Given the description of an element on the screen output the (x, y) to click on. 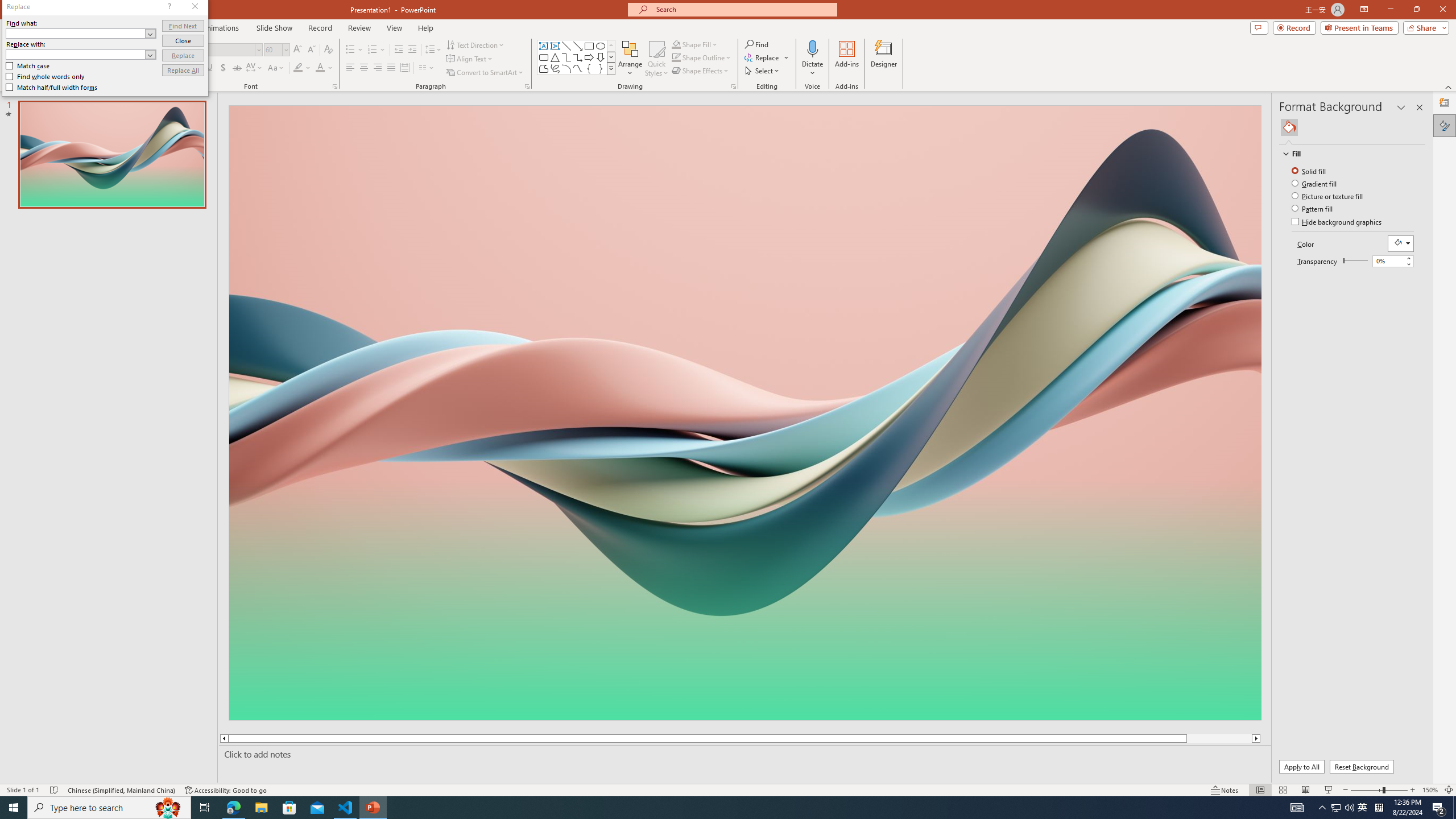
Transparency (1388, 260)
Match half/full width forms (52, 86)
Picture or texture fill (1328, 195)
Find what (75, 33)
